Given the description of an element on the screen output the (x, y) to click on. 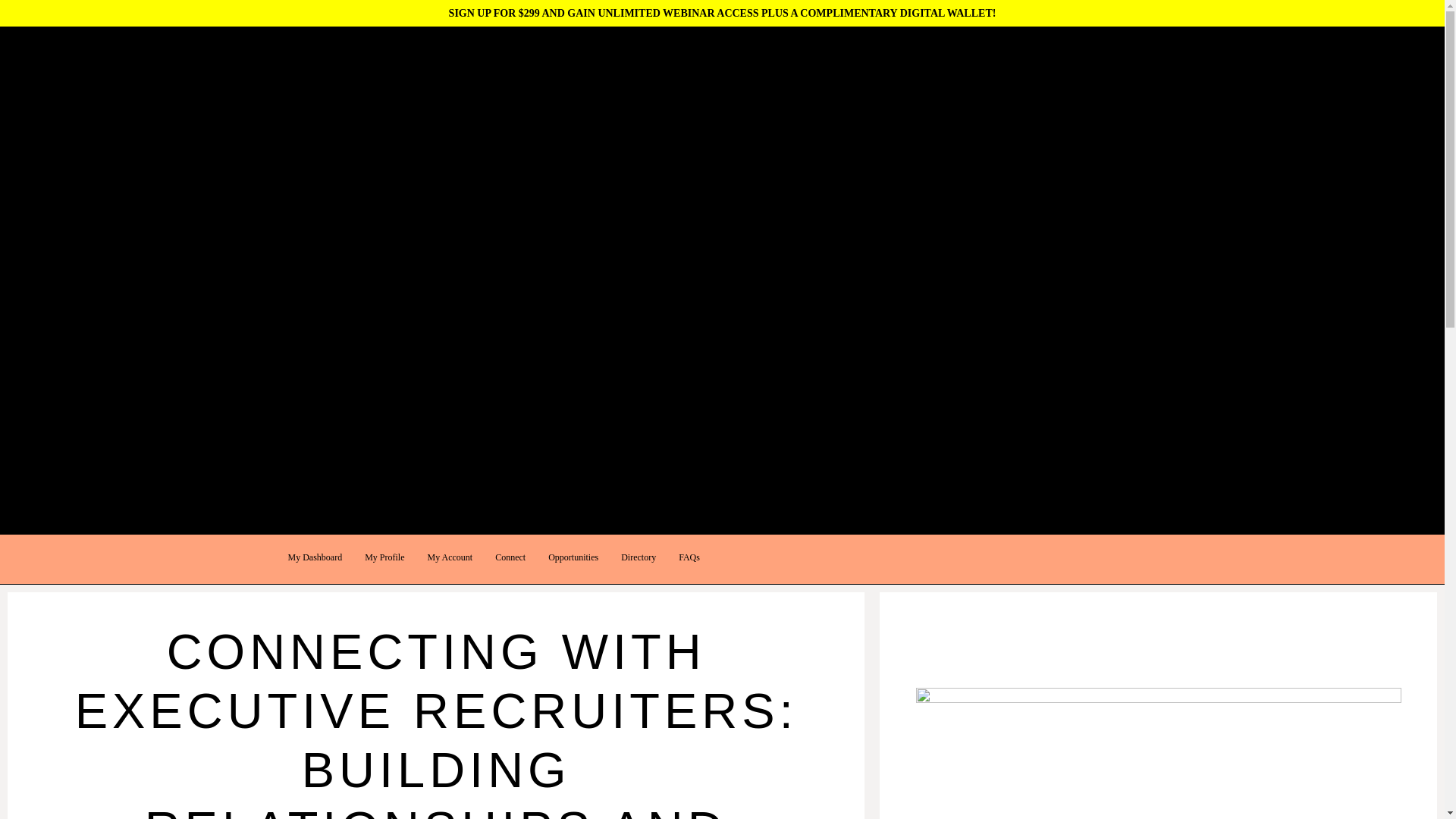
Webinars (20, 395)
Compare Products (39, 186)
SEARCH (21, 111)
My Cart (17, 167)
Webinars (37, 357)
My Dashboard (314, 556)
Opportunities (573, 556)
VeriBlue Wallet (51, 281)
Menu (12, 205)
Compensation Benchmarking (80, 300)
Compare Products (39, 186)
Guides (32, 337)
FAQs (688, 556)
Executive Blog (32, 451)
All Member Benefits (62, 243)
